Given the description of an element on the screen output the (x, y) to click on. 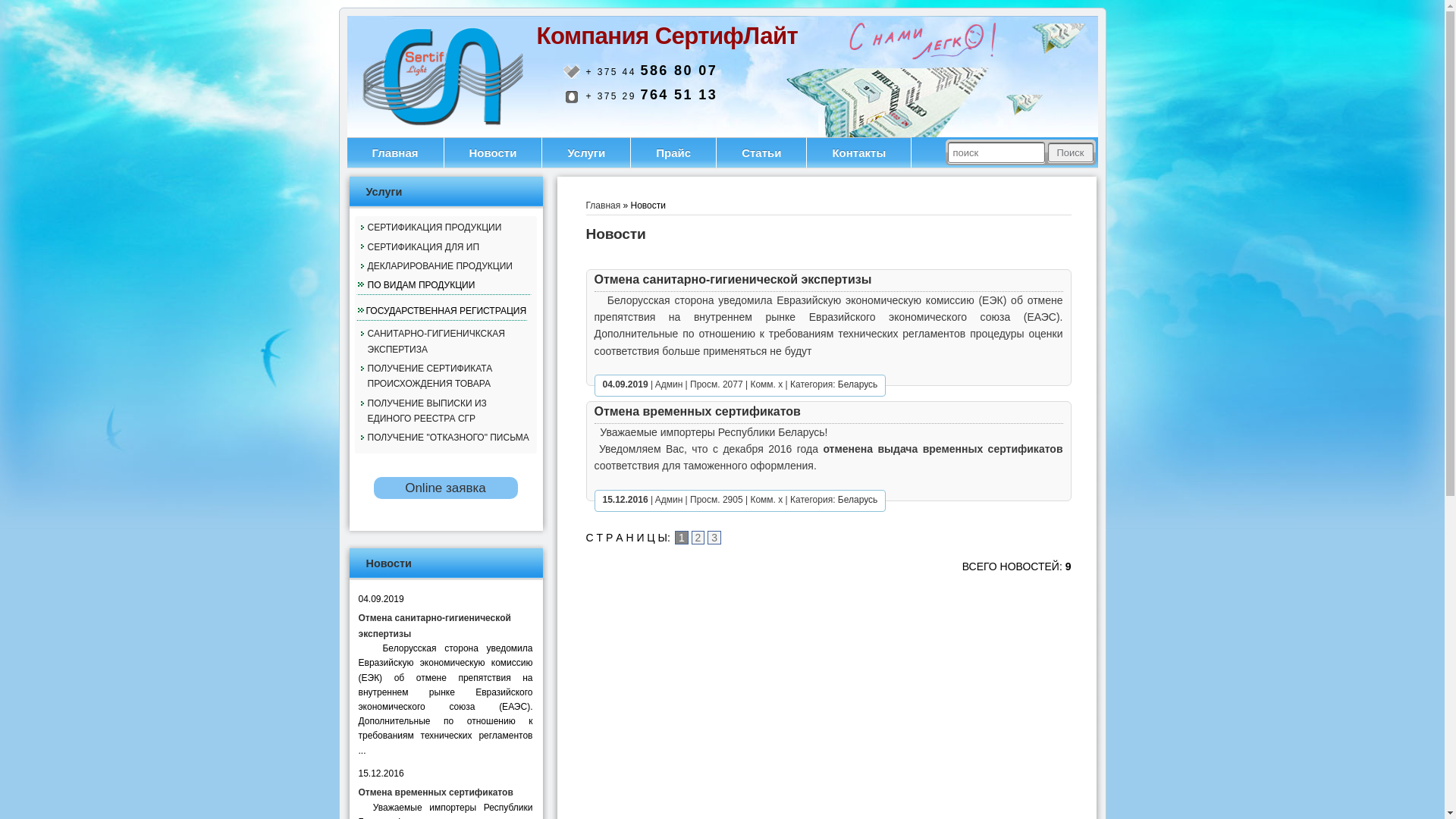
3 Element type: text (714, 537)
2 Element type: text (698, 537)
